Given the description of an element on the screen output the (x, y) to click on. 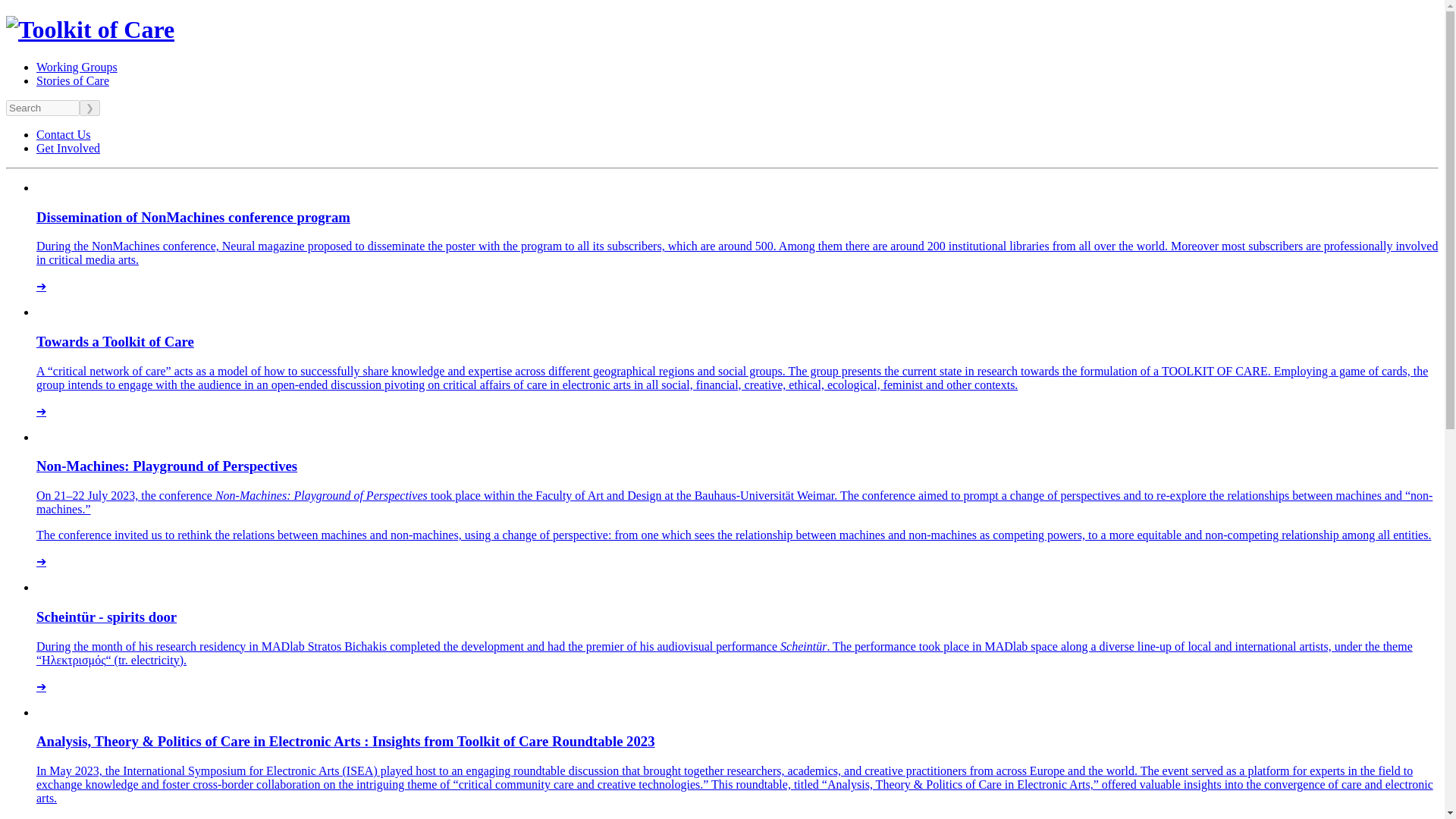
Contact Us (63, 133)
Get Involved (68, 147)
Working Groups (76, 66)
Stories of Care (72, 80)
